Given the description of an element on the screen output the (x, y) to click on. 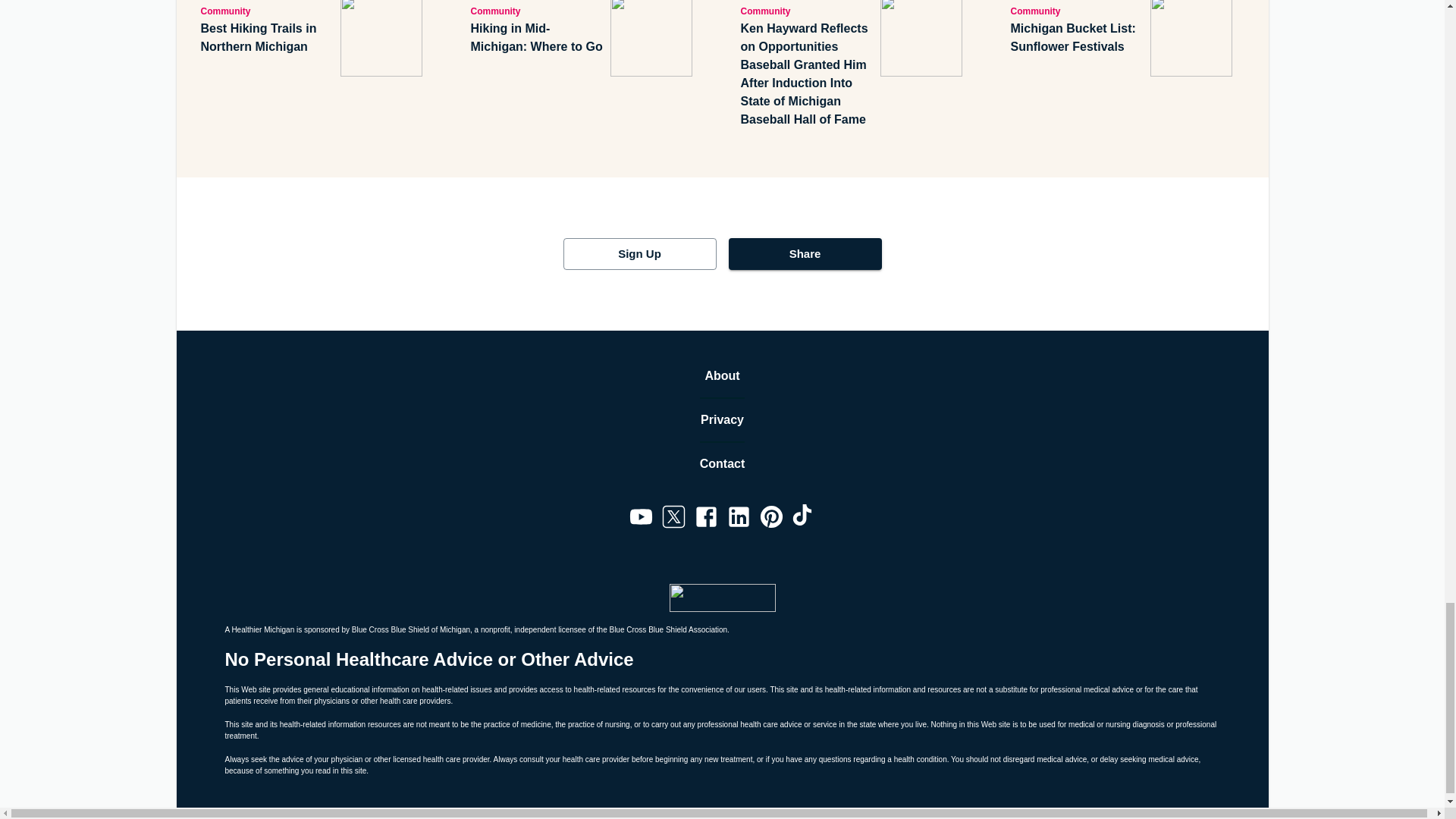
Best Hiking Trails in Northern Michigan (267, 37)
Hiking in Mid-Michigan: Where to Go (537, 37)
Community (1077, 10)
About (721, 375)
Community (537, 10)
Community (807, 10)
Privacy (722, 420)
Contact (722, 464)
Share (804, 254)
Community (267, 10)
Sign Up (639, 254)
